Given the description of an element on the screen output the (x, y) to click on. 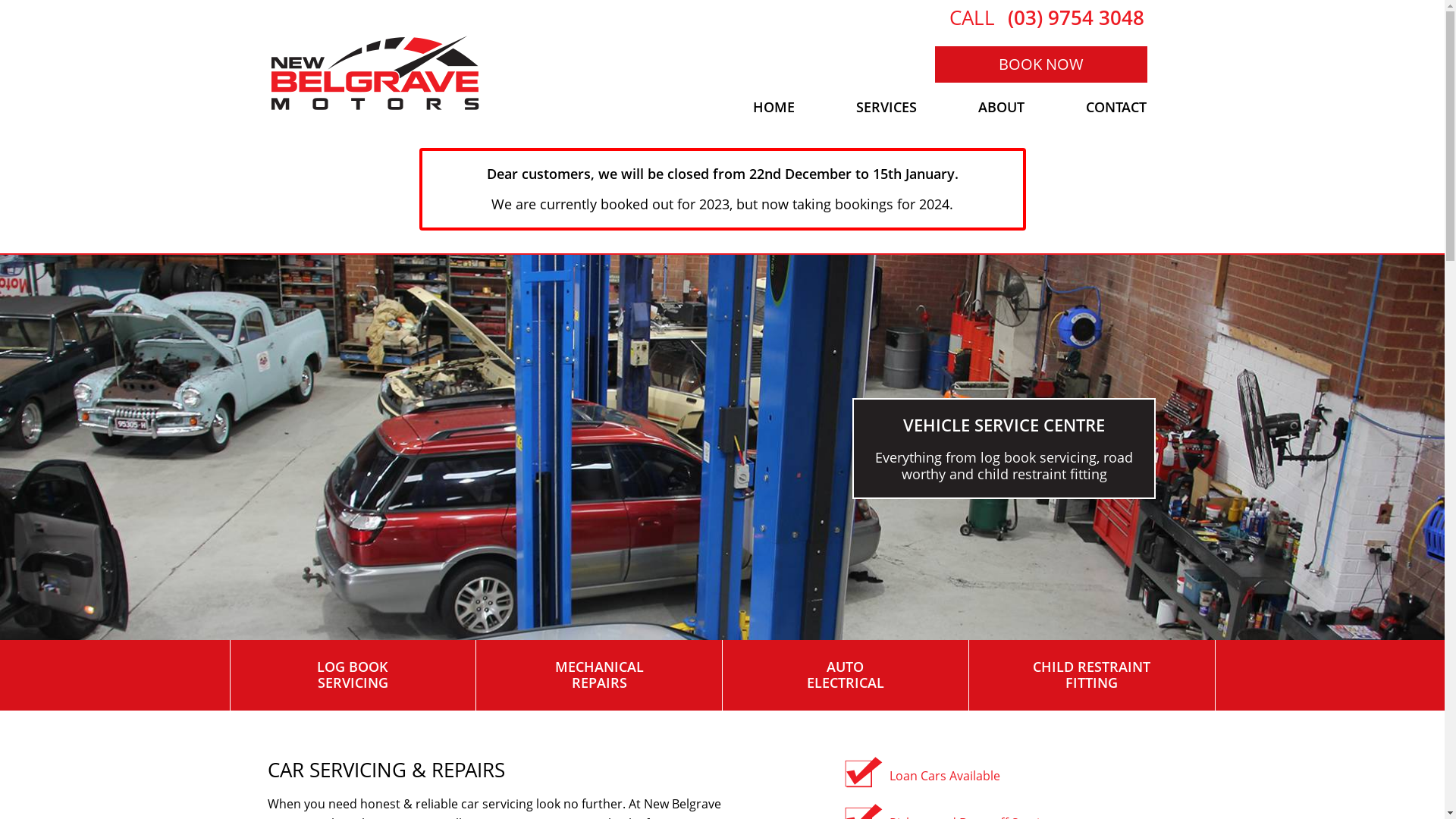
LOG BOOK SERVICING Element type: text (352, 674)
(03) 9754 3048 Element type: text (1075, 17)
MECHANICAL REPAIRS Element type: text (599, 674)
BOOK NOW Element type: text (1040, 64)
HOME Element type: text (773, 106)
CHILD RESTRAINT FITTING Element type: text (1091, 674)
SERVICES Element type: text (886, 106)
ABOUT Element type: text (1001, 106)
CONTACT Element type: text (1116, 106)
AUTO ELECTRICAL Element type: text (845, 674)
